Given the description of an element on the screen output the (x, y) to click on. 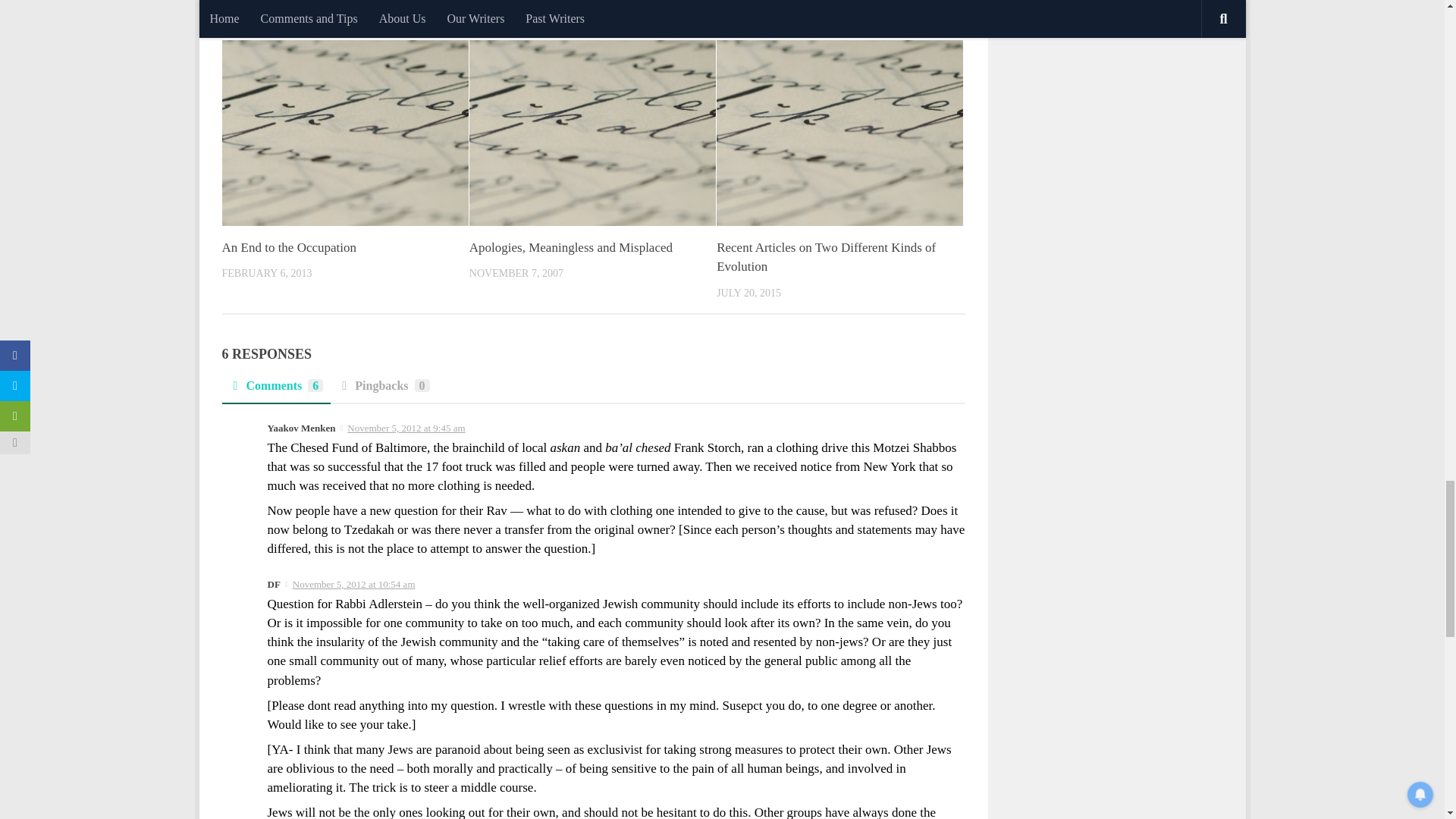
Comments6 (275, 390)
Apologies, Meaningless and Misplaced (570, 247)
Pingbacks0 (383, 390)
Recent Articles on Two Different Kinds of Evolution (826, 257)
An End to the Occupation (288, 247)
November 5, 2012 at 10:54 am (353, 583)
November 5, 2012 at 9:45 am (405, 428)
